Given the description of an element on the screen output the (x, y) to click on. 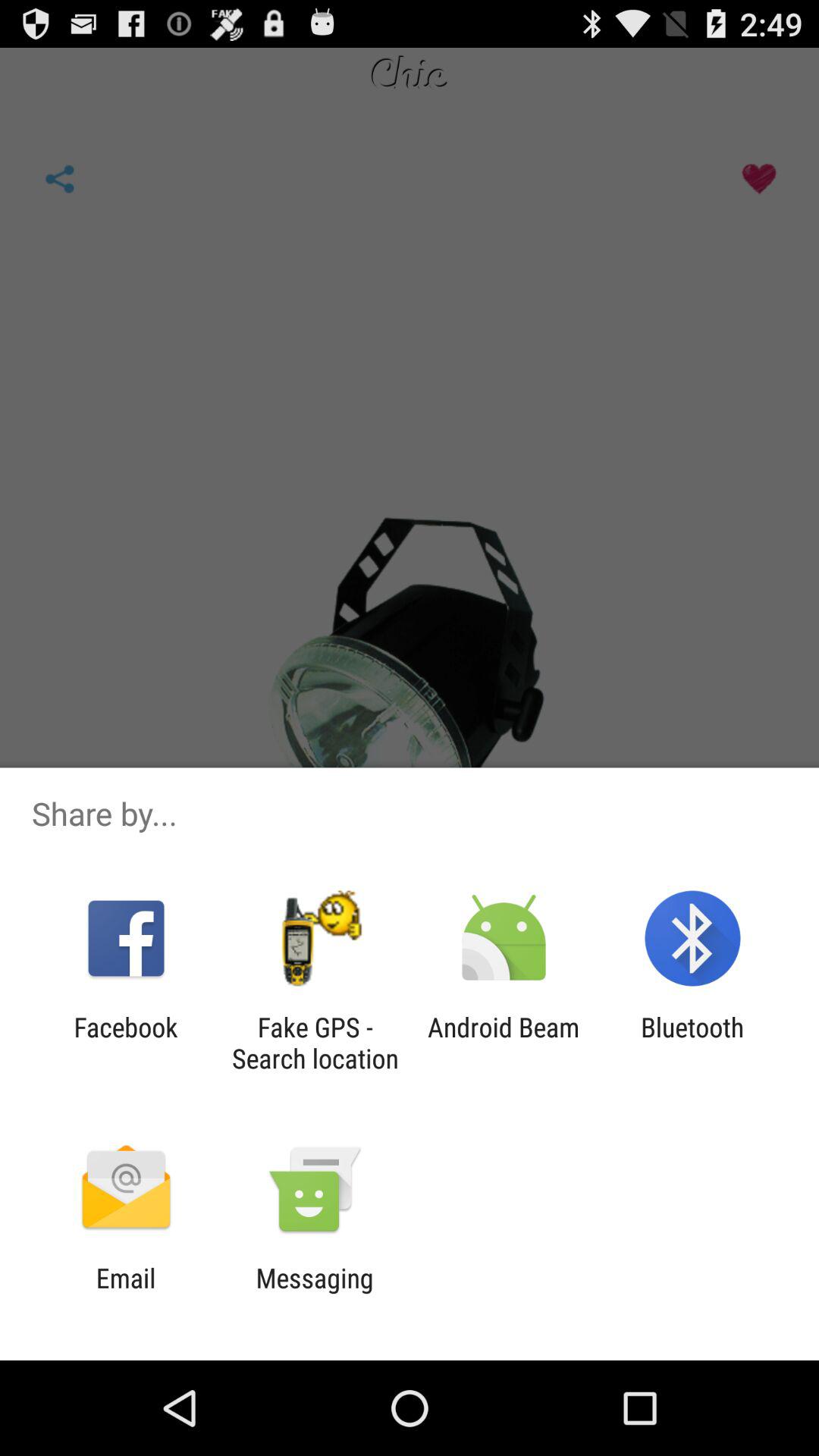
scroll until email (125, 1293)
